Given the description of an element on the screen output the (x, y) to click on. 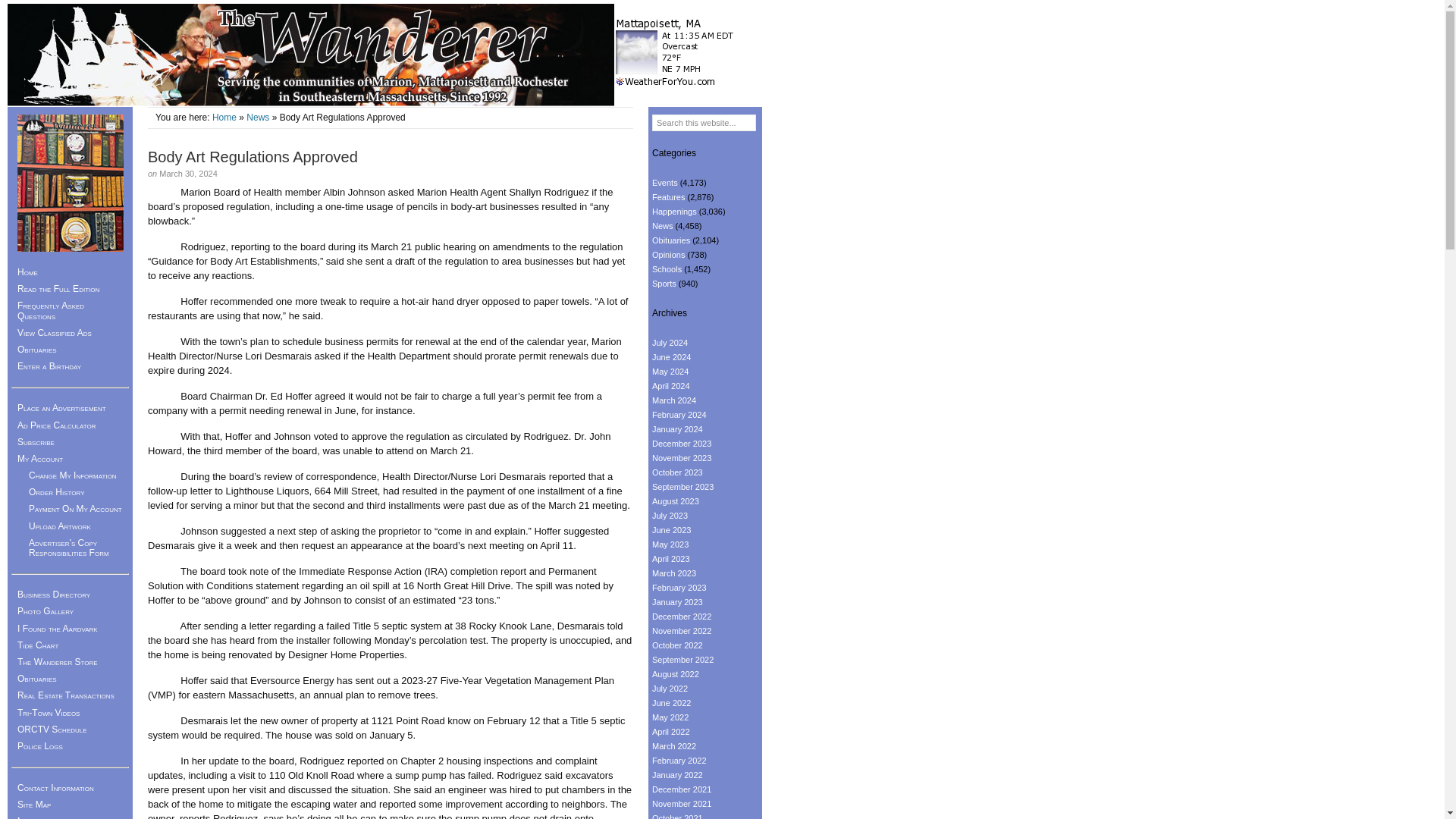
Payment On My Account (75, 508)
Police Logs (69, 745)
Advertiser's Copy Responsibilities Form (75, 547)
Home (223, 117)
News (662, 225)
Login (69, 816)
Upload Artwork (75, 525)
Read the Full Edition (69, 288)
I Found the Aardvark (69, 628)
The Wanderer (310, 55)
Events (665, 182)
Place an Advertisement (69, 407)
Site Map (69, 804)
Features (668, 196)
Order History (75, 492)
